Given the description of an element on the screen output the (x, y) to click on. 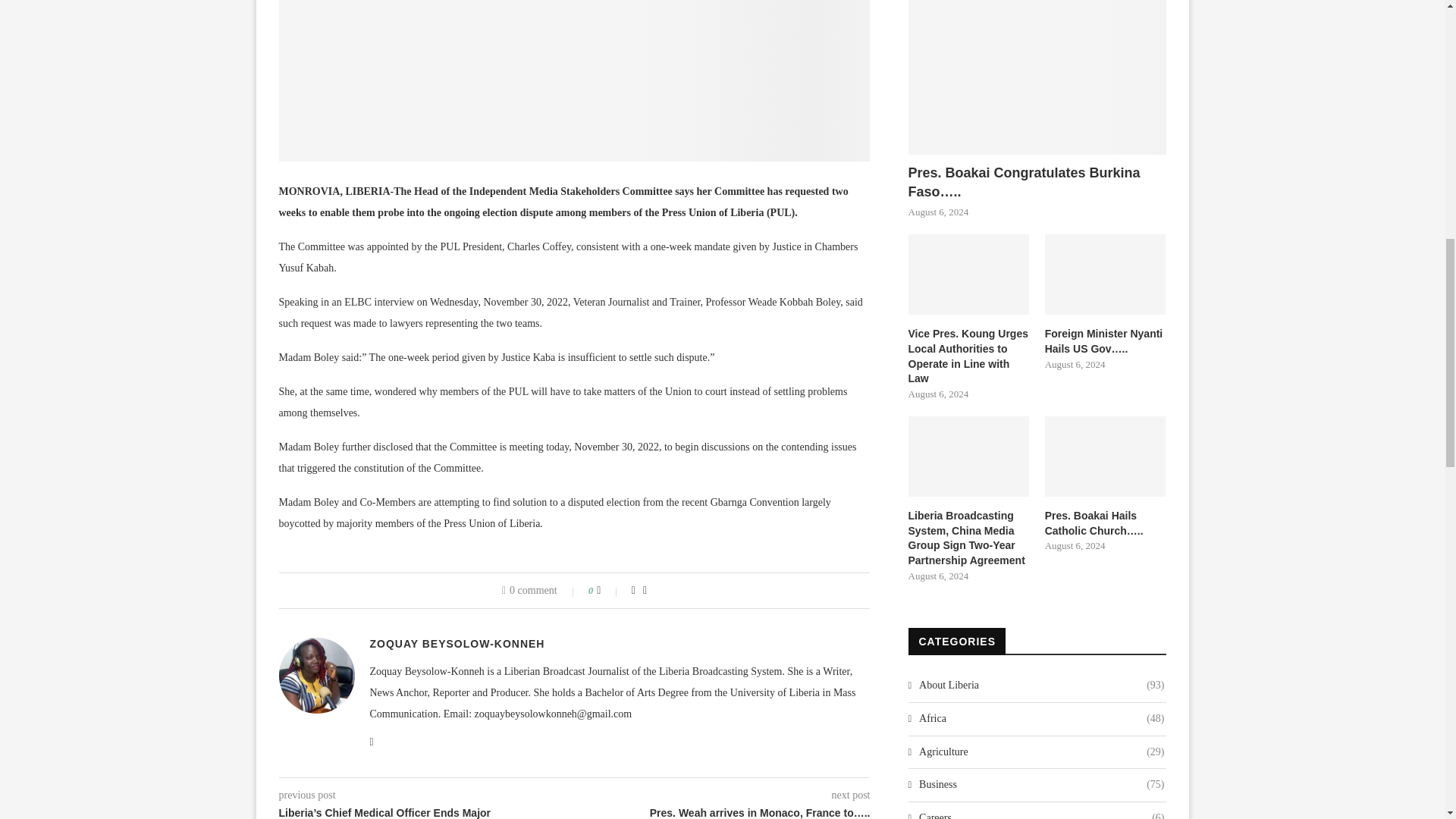
weade (574, 80)
Like (608, 590)
Author Zoquay Beysolow-Konneh (456, 644)
